Given the description of an element on the screen output the (x, y) to click on. 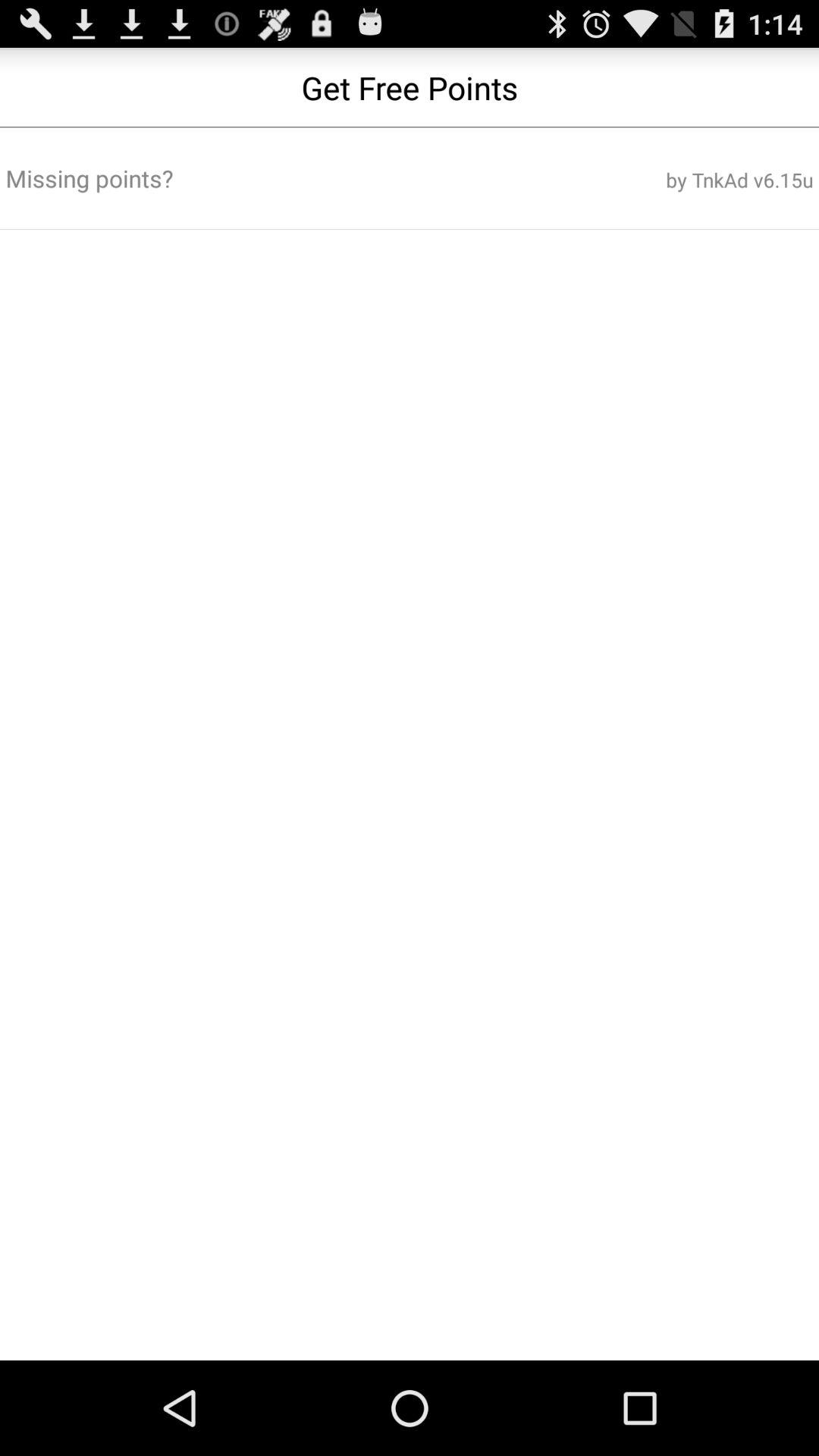
scroll until the by tnkad v6 (677, 180)
